Given the description of an element on the screen output the (x, y) to click on. 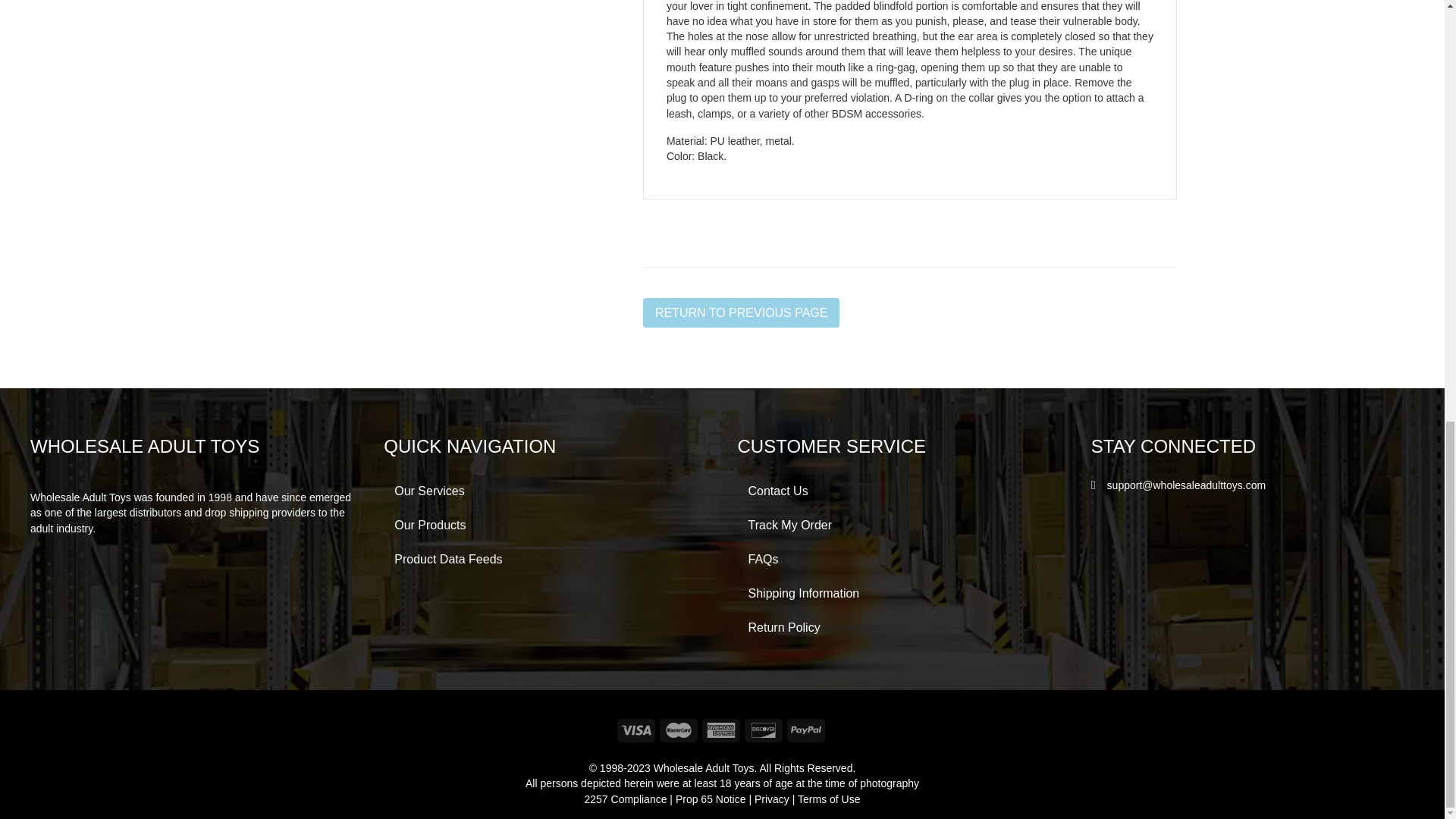
cc-icons (721, 729)
